Given the description of an element on the screen output the (x, y) to click on. 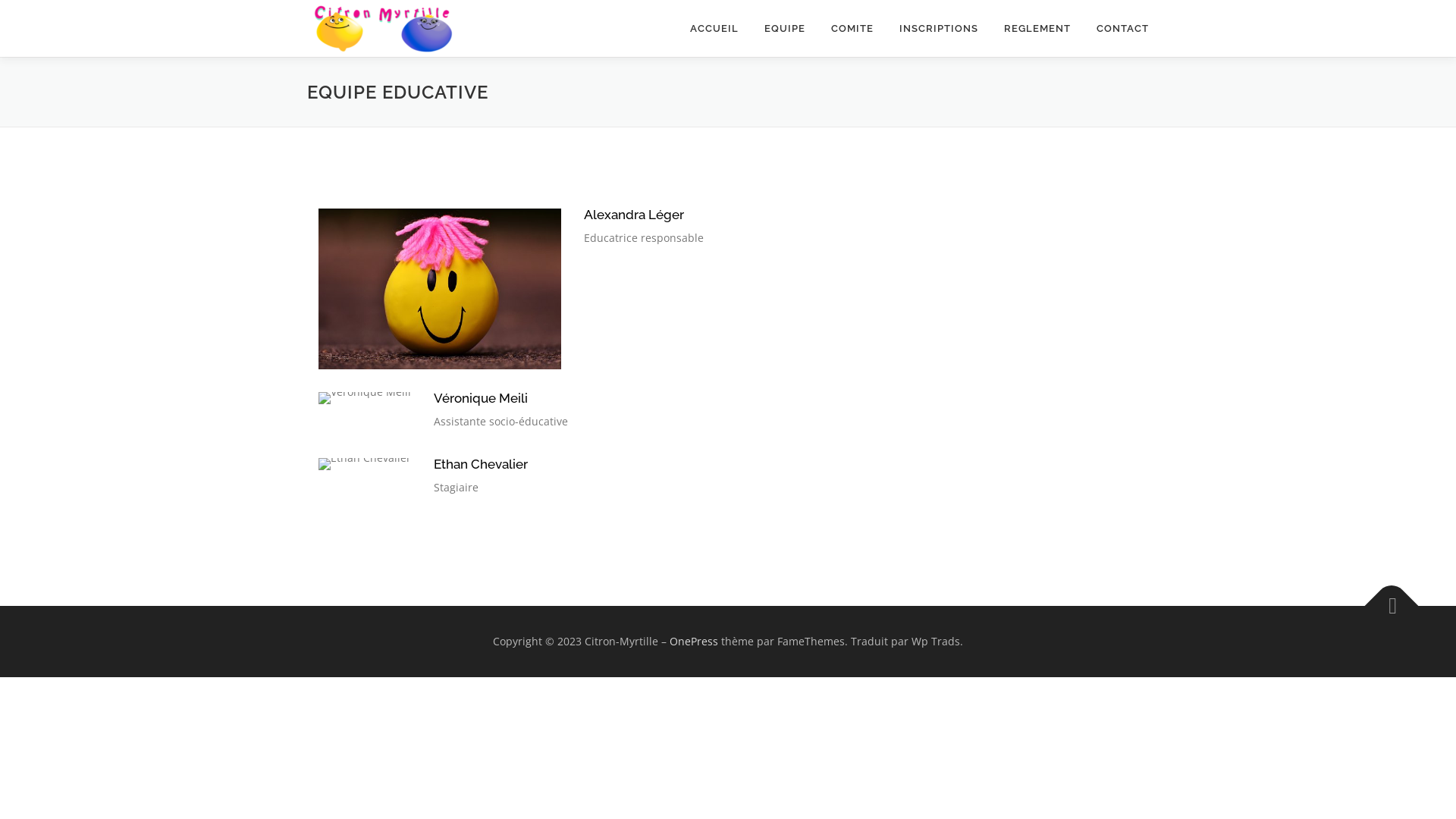
INSCRIPTIONS Element type: text (938, 28)
COMITE Element type: text (852, 28)
CONTACT Element type: text (1115, 28)
EQUIPE Element type: text (784, 28)
Retour en haut Element type: hover (1383, 597)
Aller au contenu Element type: text (42, 9)
REGLEMENT Element type: text (1037, 28)
OnePress Element type: text (693, 640)
ACCUEIL Element type: text (714, 28)
